Given the description of an element on the screen output the (x, y) to click on. 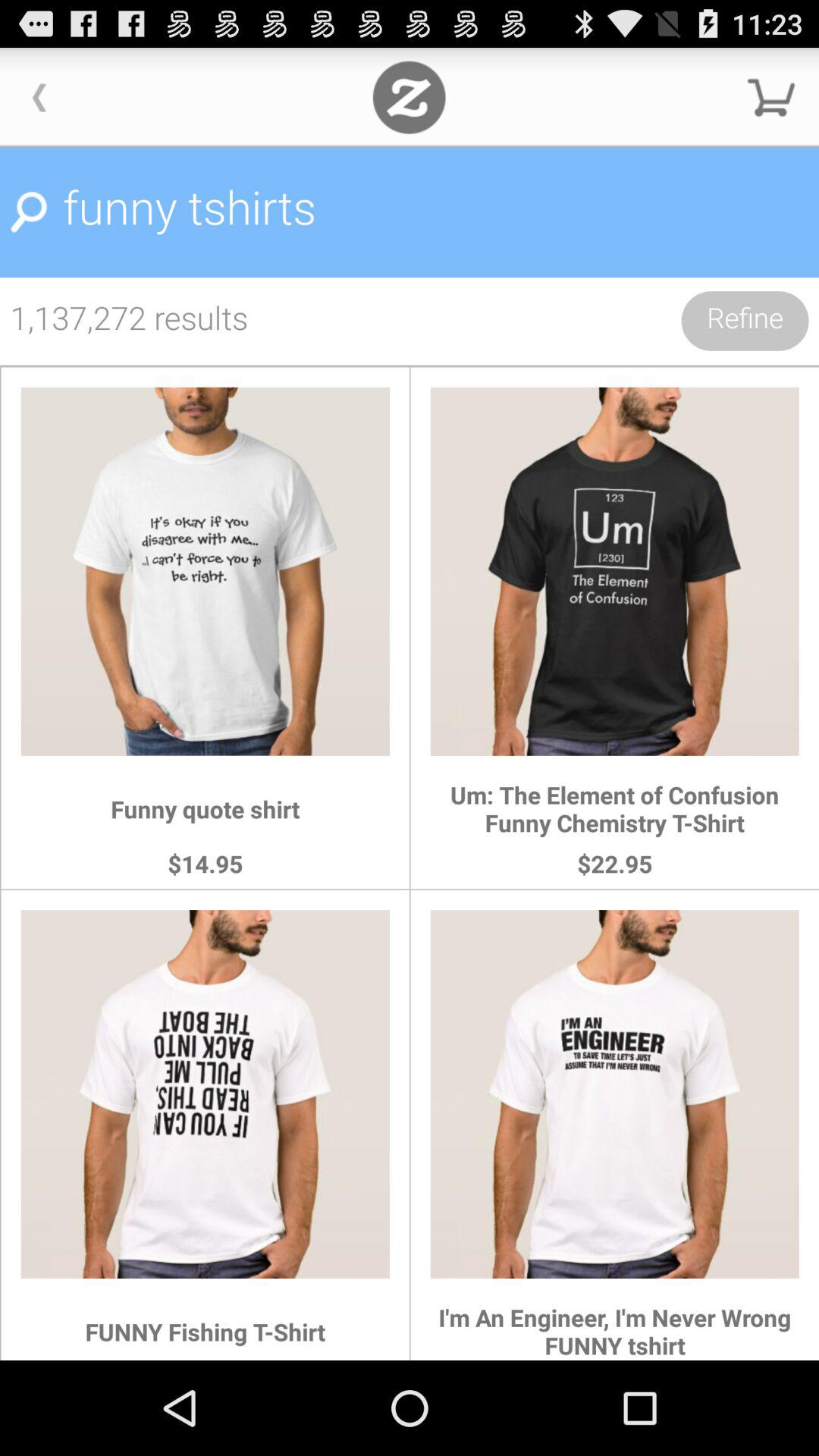
jump to refine (744, 320)
